Given the description of an element on the screen output the (x, y) to click on. 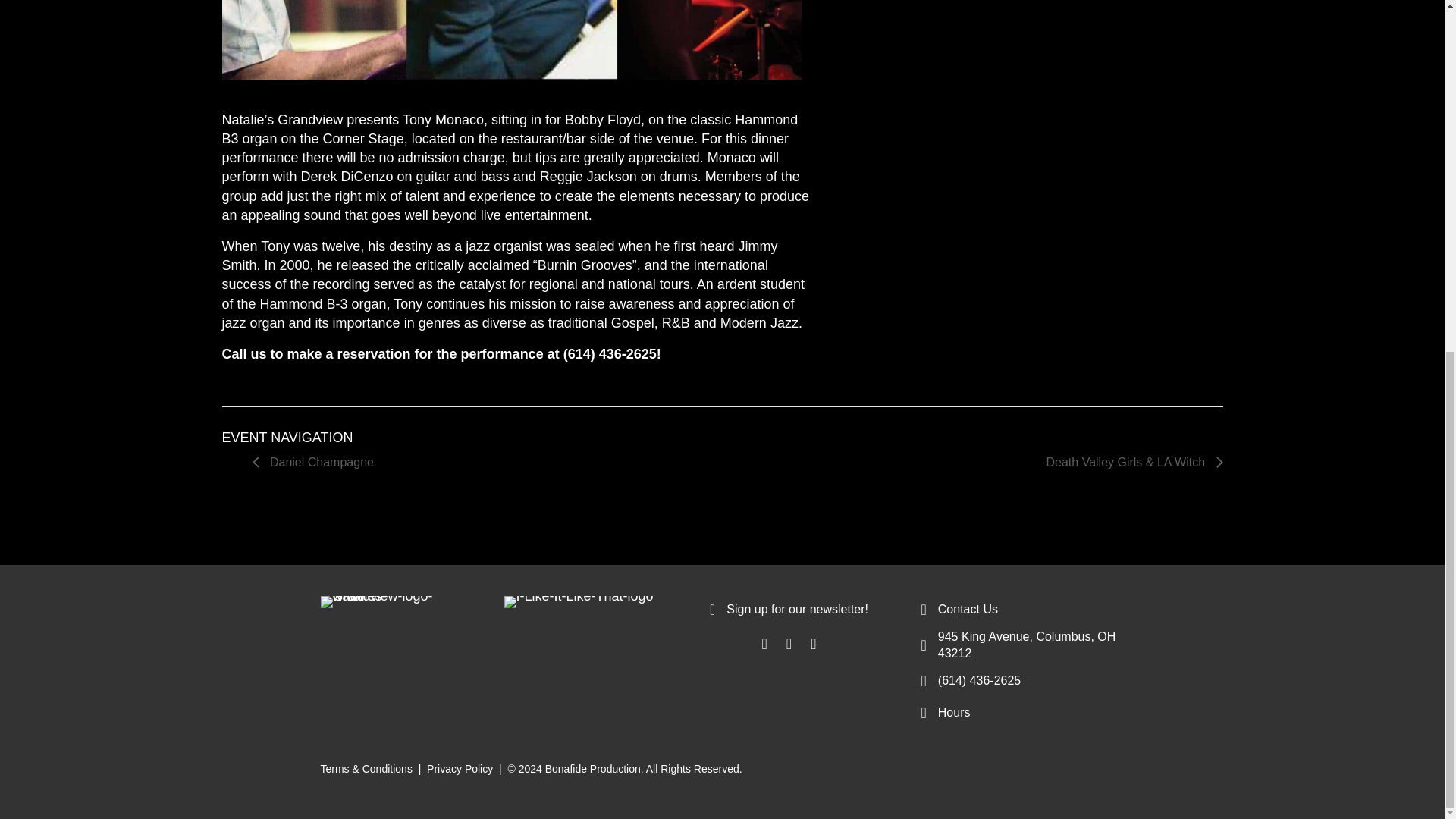
I-Like-It-Like-That-logo (577, 602)
Natalies-Grandview-logo-white (376, 602)
Tony Monaco, Derek DiCenzo, Reggie Jackson (510, 40)
